Given the description of an element on the screen output the (x, y) to click on. 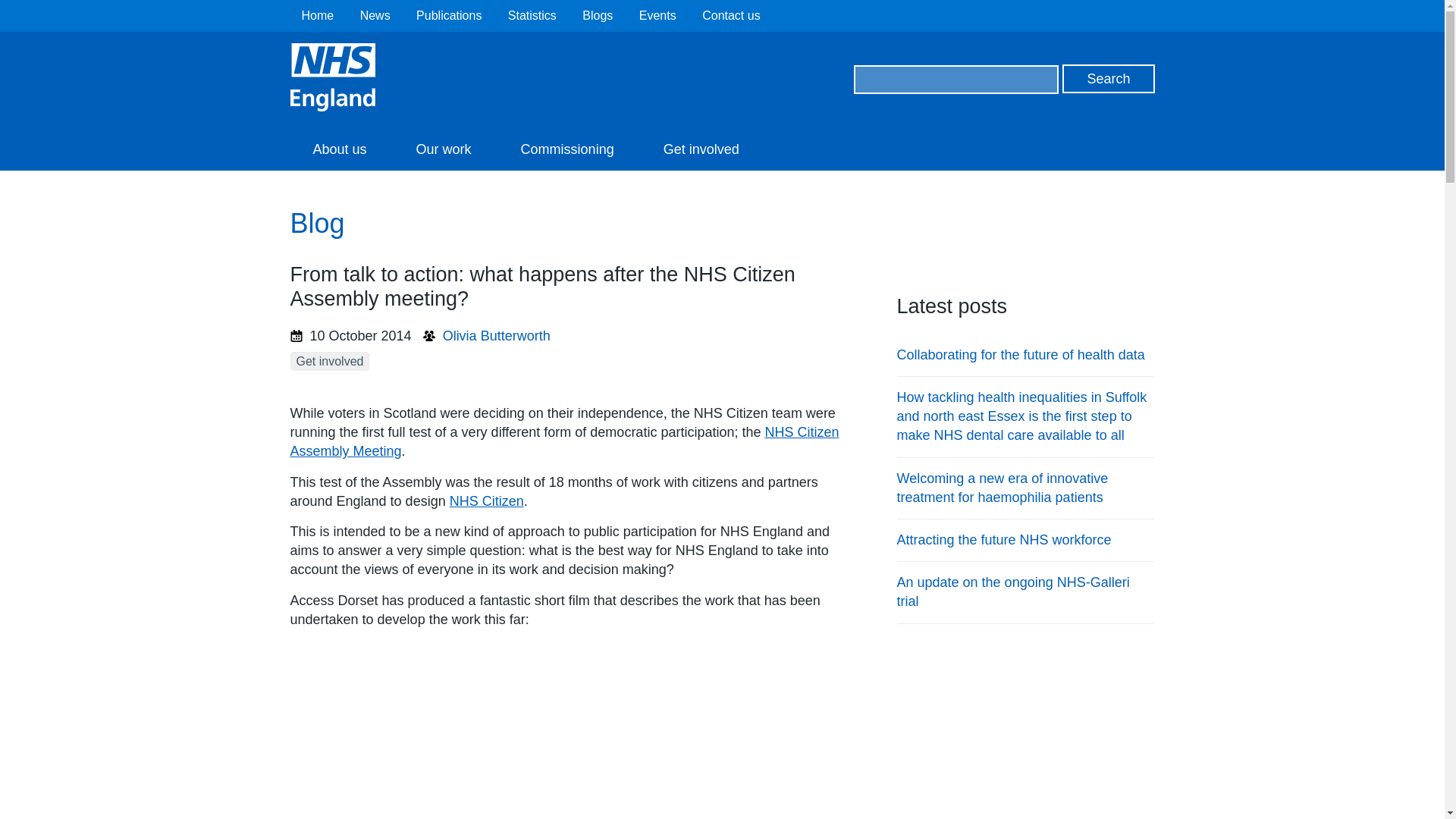
Events (658, 15)
Search (1108, 78)
Our work (444, 149)
Statistics (532, 15)
Collaborating for the future of health data (1020, 354)
Search (1108, 78)
NHS Citizen (486, 500)
Contact us (730, 15)
Contact us (730, 15)
Details of the Assembly Meeting on NHS Citizen website (563, 441)
Home (317, 15)
NHS Citizen website (486, 500)
Our work (444, 149)
Get involved (329, 361)
